Given the description of an element on the screen output the (x, y) to click on. 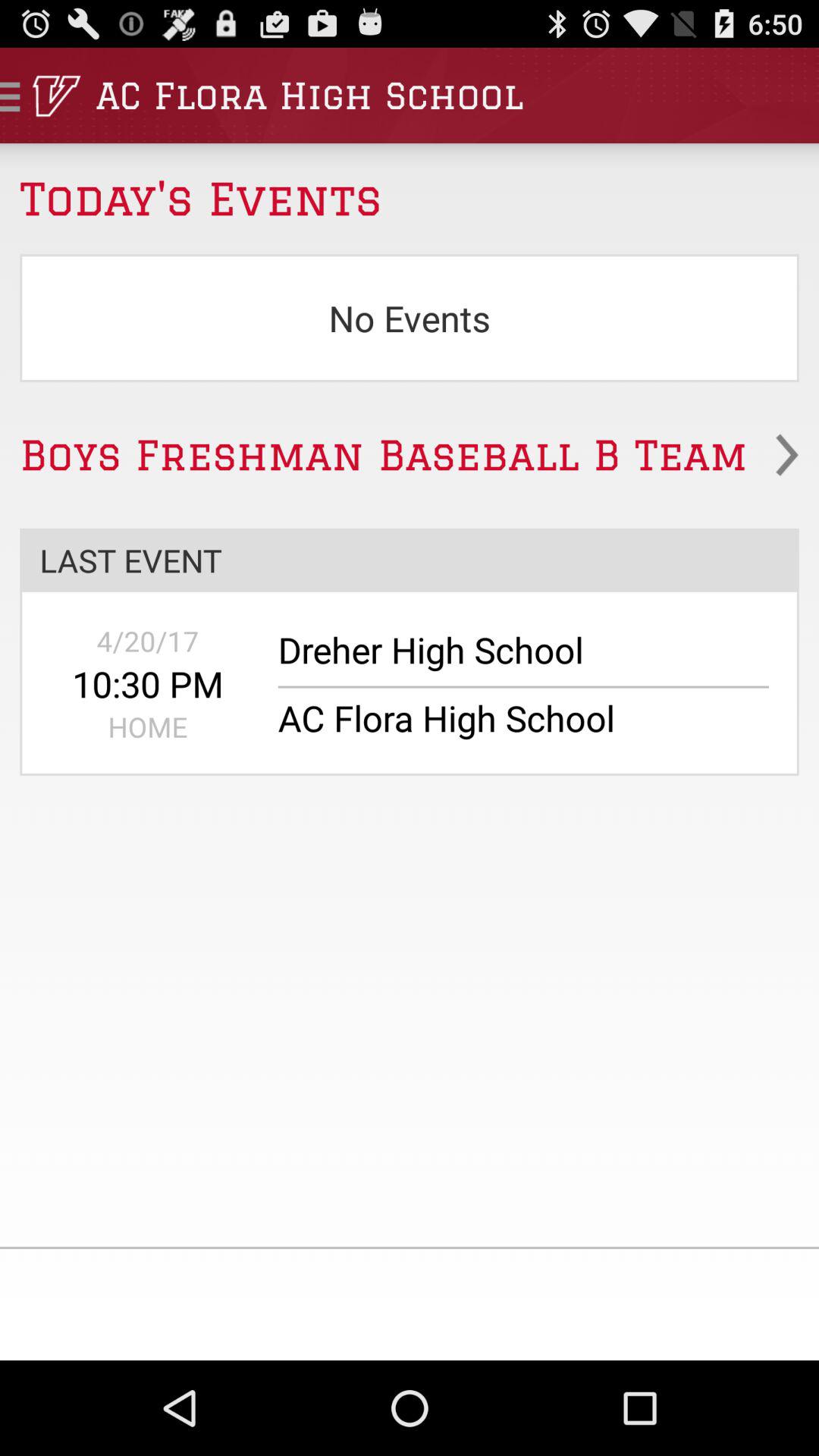
jump to the last event app (409, 560)
